Given the description of an element on the screen output the (x, y) to click on. 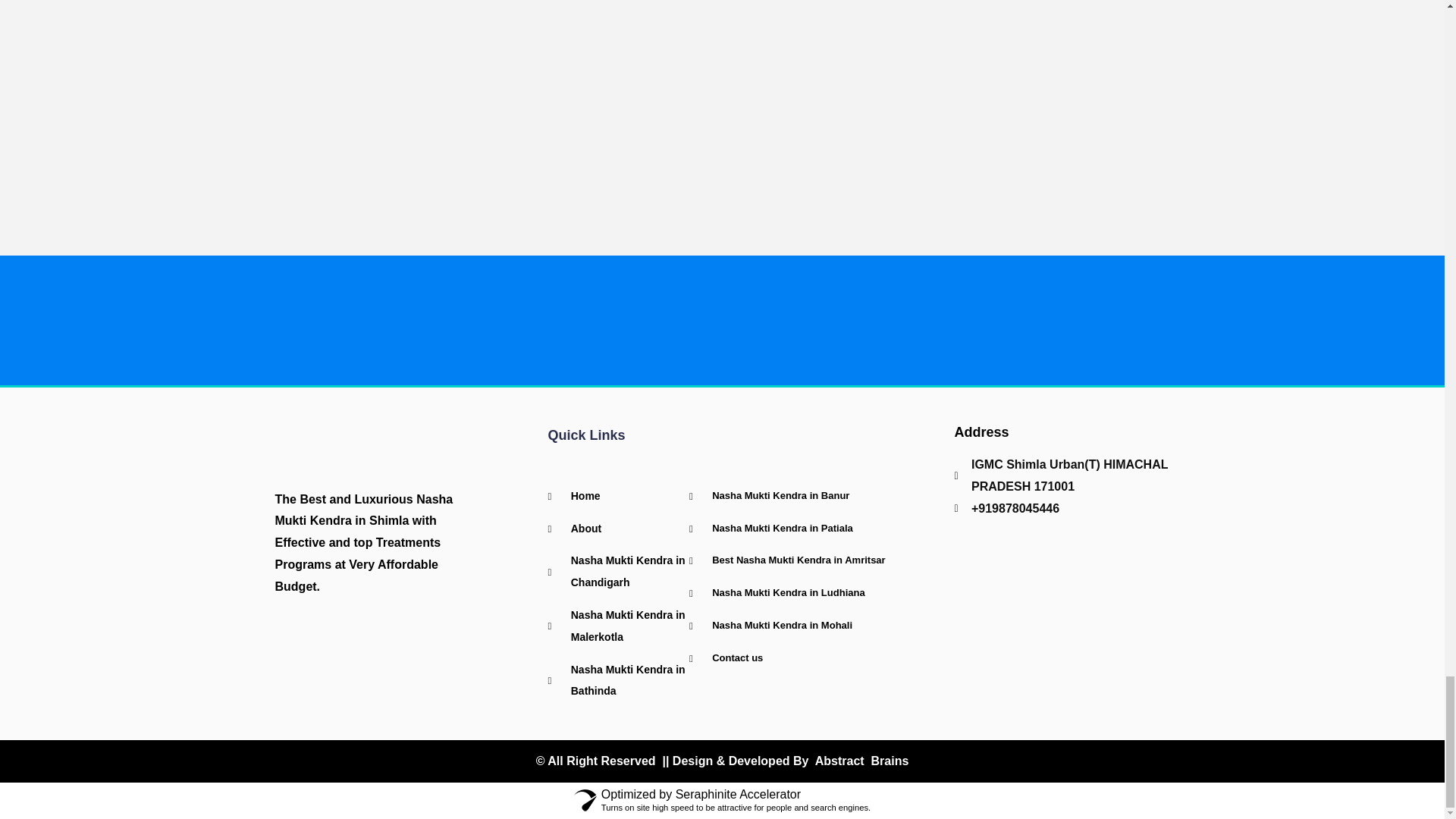
Home (617, 495)
Nasha Mukti Kendra in Chandigarh (617, 571)
About (617, 528)
